Given the description of an element on the screen output the (x, y) to click on. 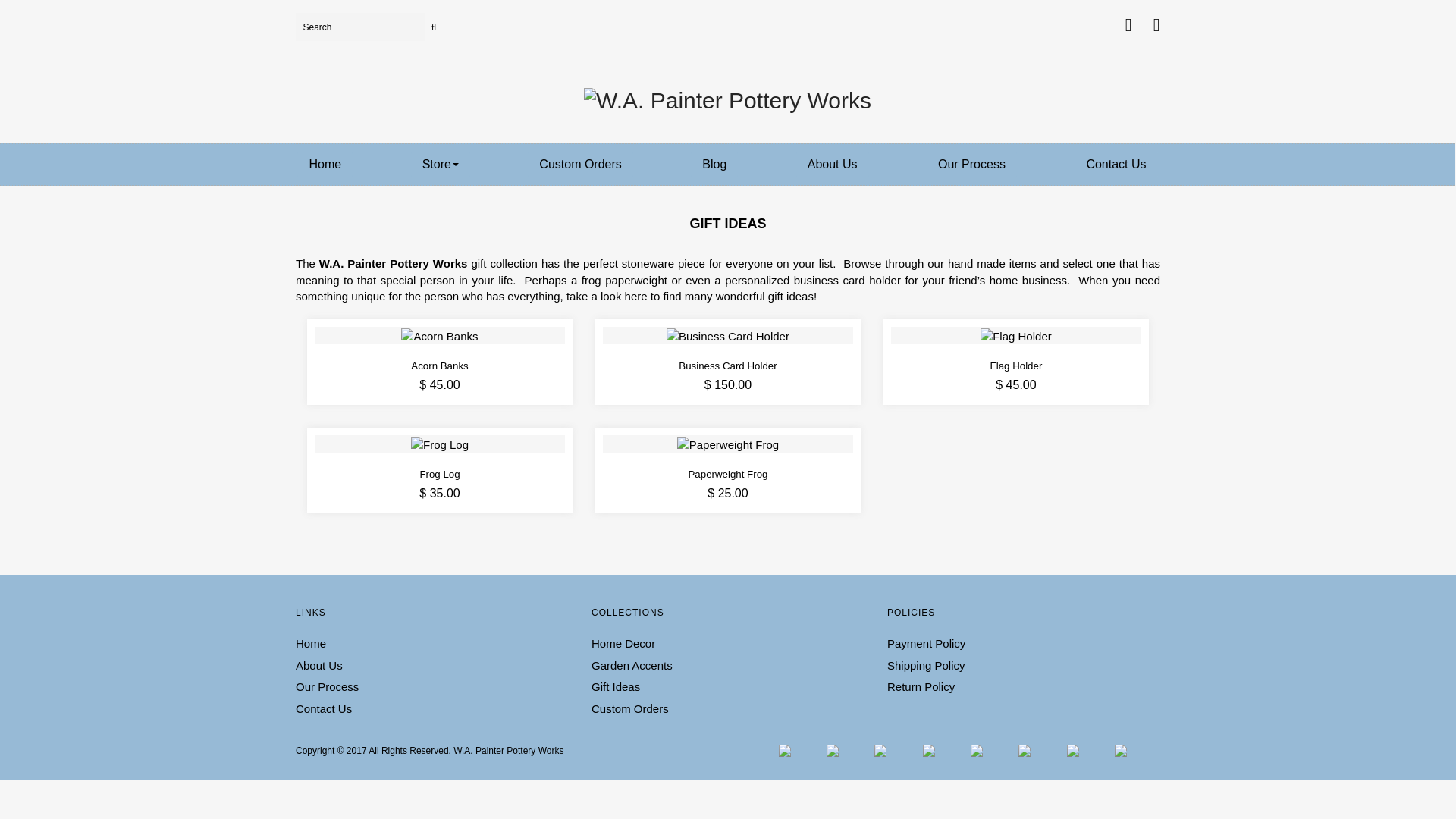
Shipping Policy (925, 665)
Home (324, 164)
Home (310, 643)
Custom Orders (629, 707)
Payment Policy (925, 643)
Our Process (326, 686)
Contact Us (1115, 164)
Flag Holder (1015, 334)
Paperweight Frog (727, 442)
Contact Us (323, 707)
